Given the description of an element on the screen output the (x, y) to click on. 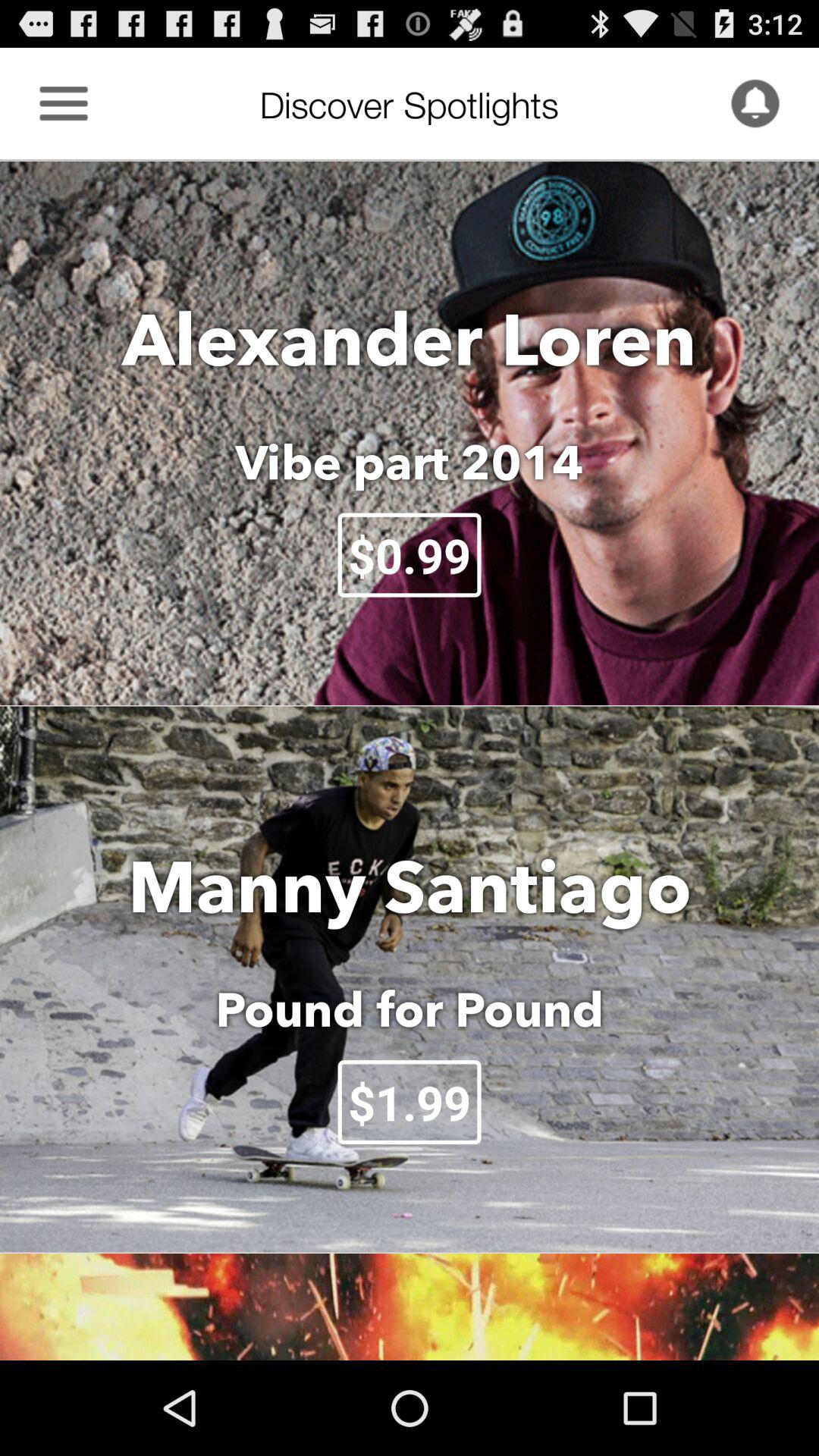
select the app below the manny santiago (409, 1008)
